Given the description of an element on the screen output the (x, y) to click on. 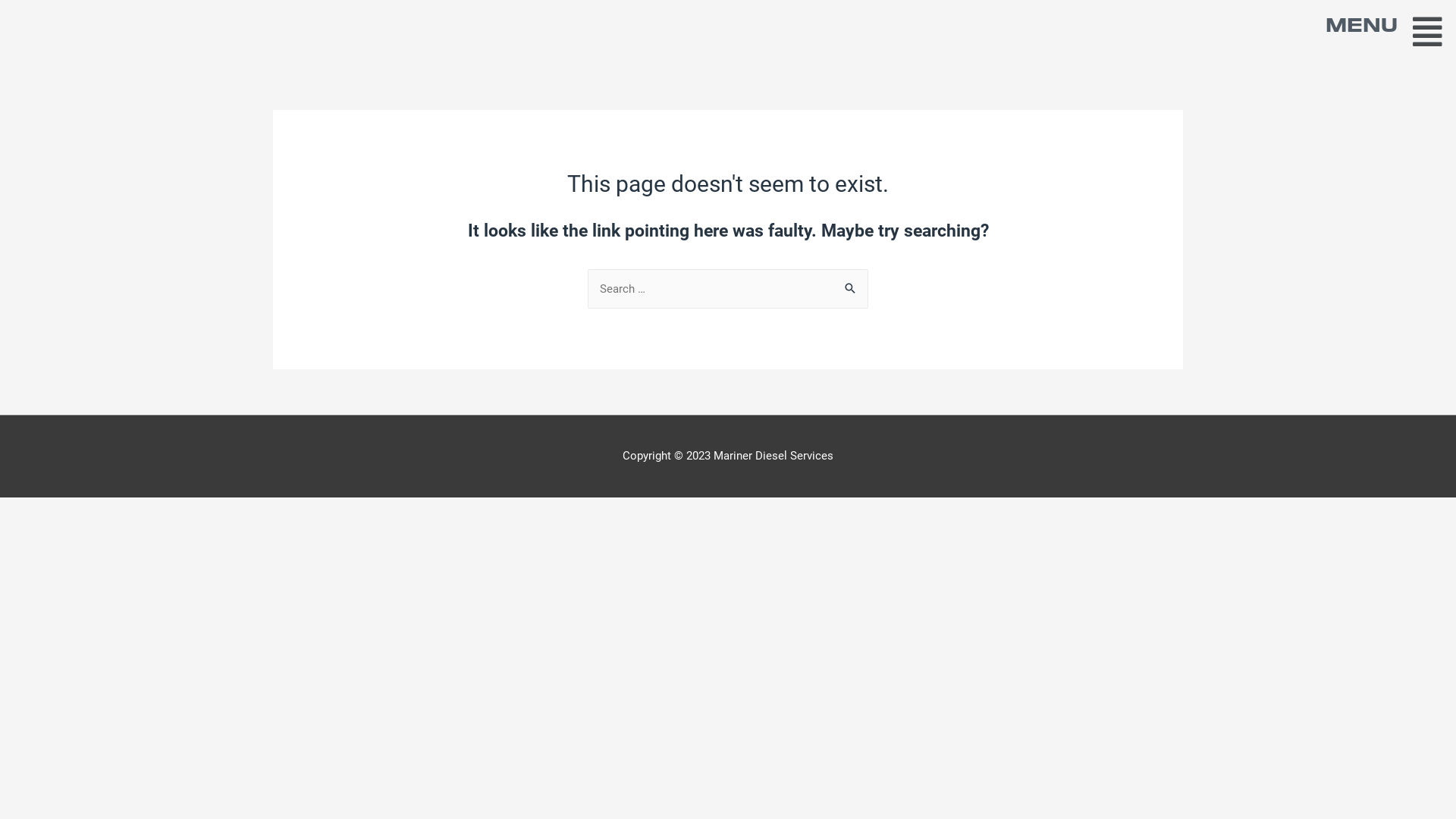
Search Element type: text (851, 284)
